Given the description of an element on the screen output the (x, y) to click on. 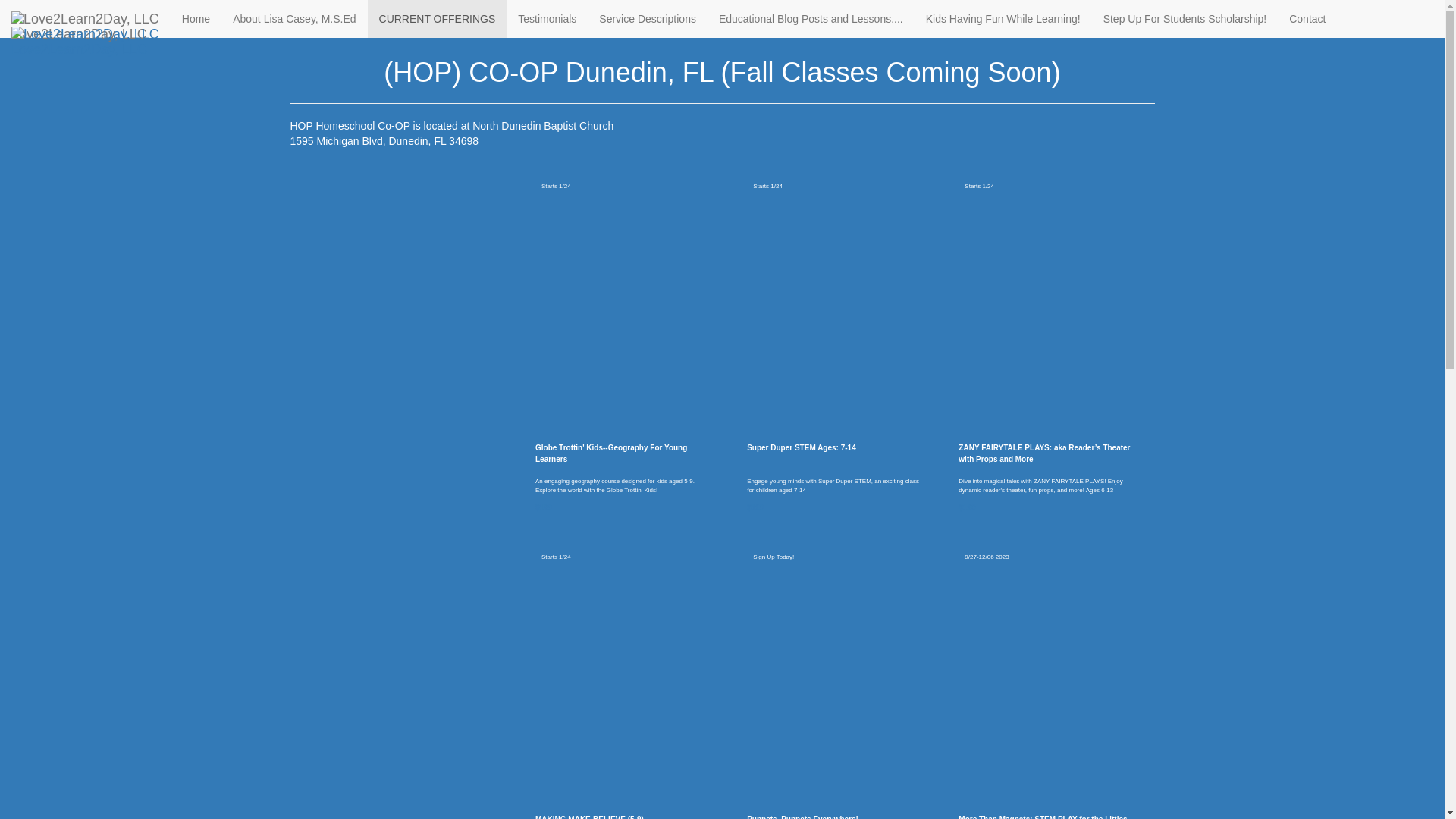
Service Descriptions (647, 18)
Testimonials (547, 18)
Globe Trottin' Kids--Geography For Young Learners (621, 453)
More Than Magnets: STEM PLAY for the Littles Ages 4-7 (1044, 816)
Puppets, Puppets Everywhere! (802, 816)
Love2Learn2Day, LLC (85, 18)
Educational Blog Posts and Lessons.... (810, 18)
Contact  (1308, 18)
Sign Up Today! (772, 556)
Step Up For Students Scholarship! (1185, 18)
Home (303, 12)
Love2Learn2Day, LLC (85, 34)
